Given the description of an element on the screen output the (x, y) to click on. 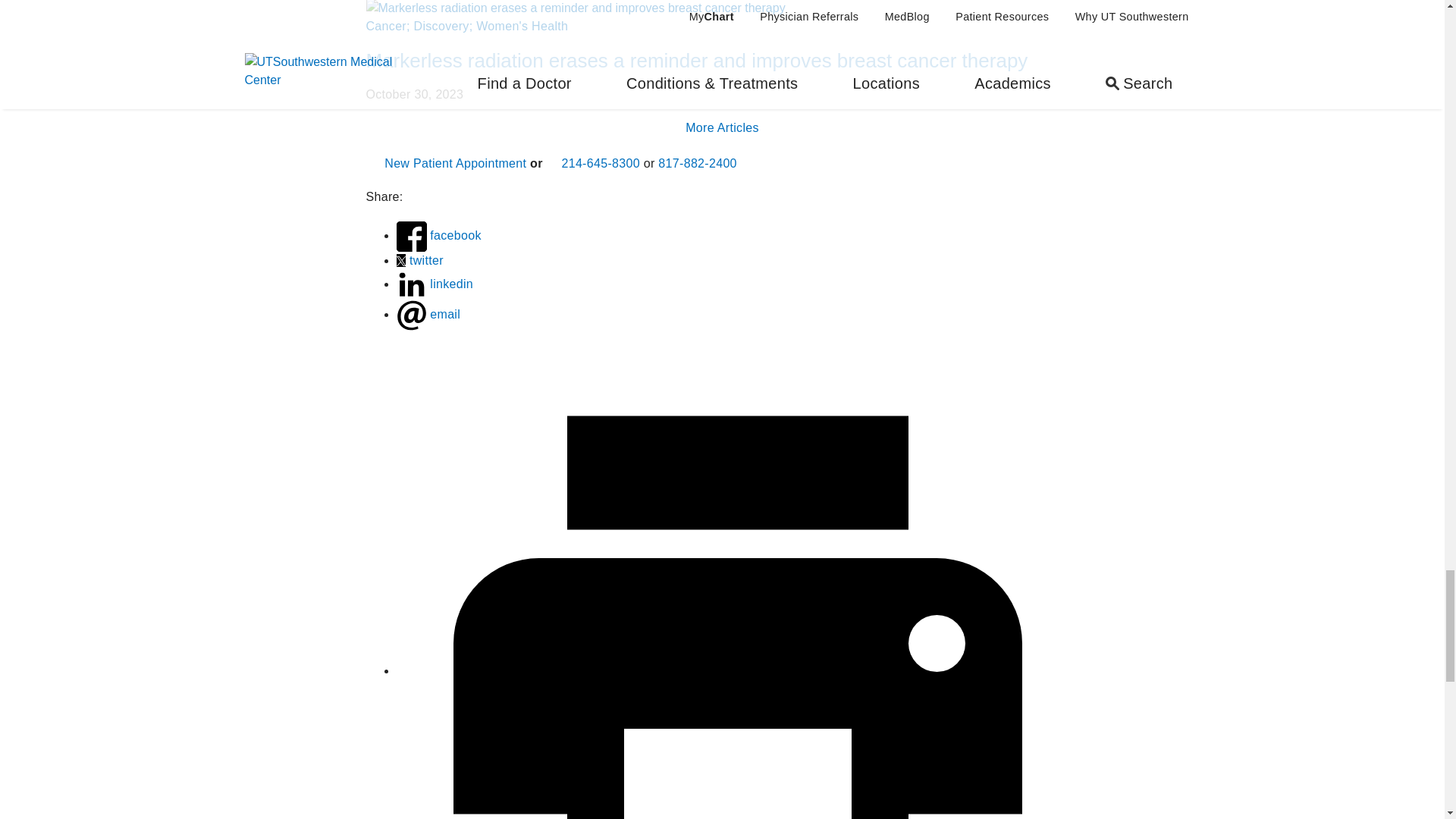
Share via Email (411, 315)
Share via Twitter (400, 261)
Share via Facebook (411, 236)
Share via LinkedIn (411, 285)
Appointment (372, 159)
